Given the description of an element on the screen output the (x, y) to click on. 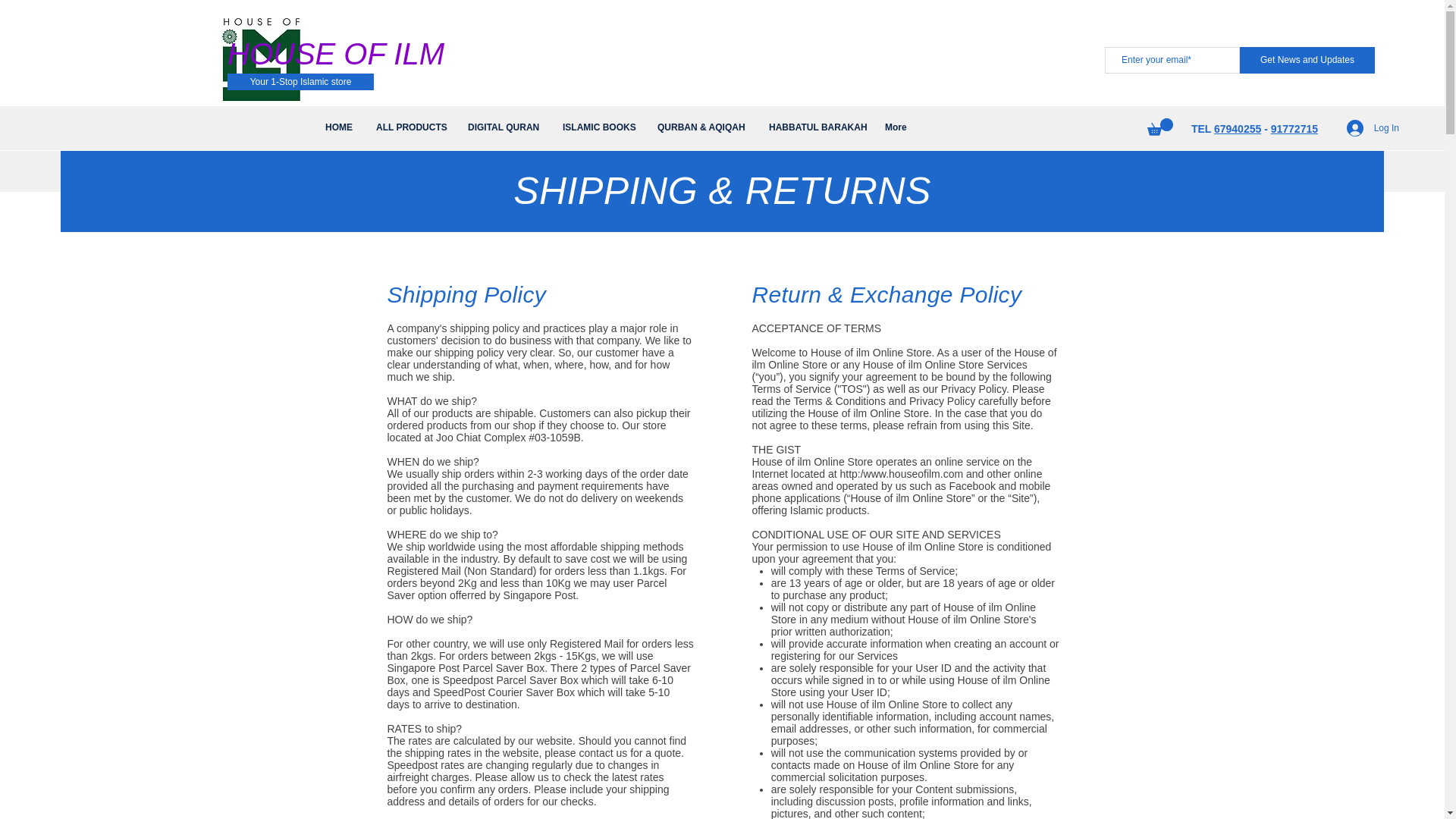
ALL PRODUCTS (411, 127)
Your 1-Stop Islamic store (300, 81)
Log In (1372, 127)
HOUSE OF ILM (335, 53)
Get News and Updates (1307, 59)
HABBATUL BARAKAH (815, 127)
67940255 (1237, 128)
www.houseofilm.com (913, 473)
DIGITAL QURAN (504, 127)
91772715 (1294, 128)
ISLAMIC BOOKS (598, 127)
HOME (339, 127)
